Given the description of an element on the screen output the (x, y) to click on. 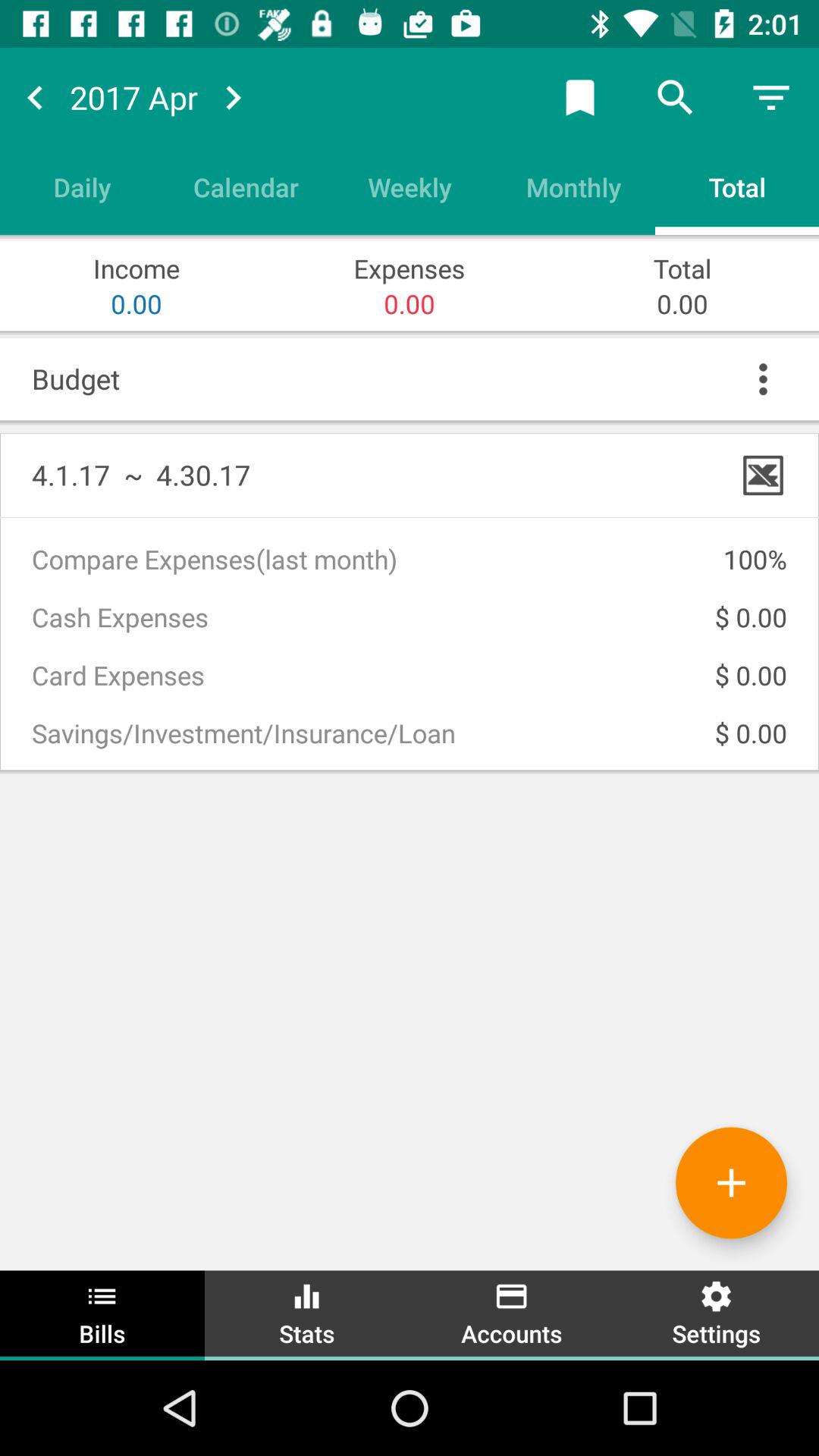
jump to the monthly item (573, 186)
